Given the description of an element on the screen output the (x, y) to click on. 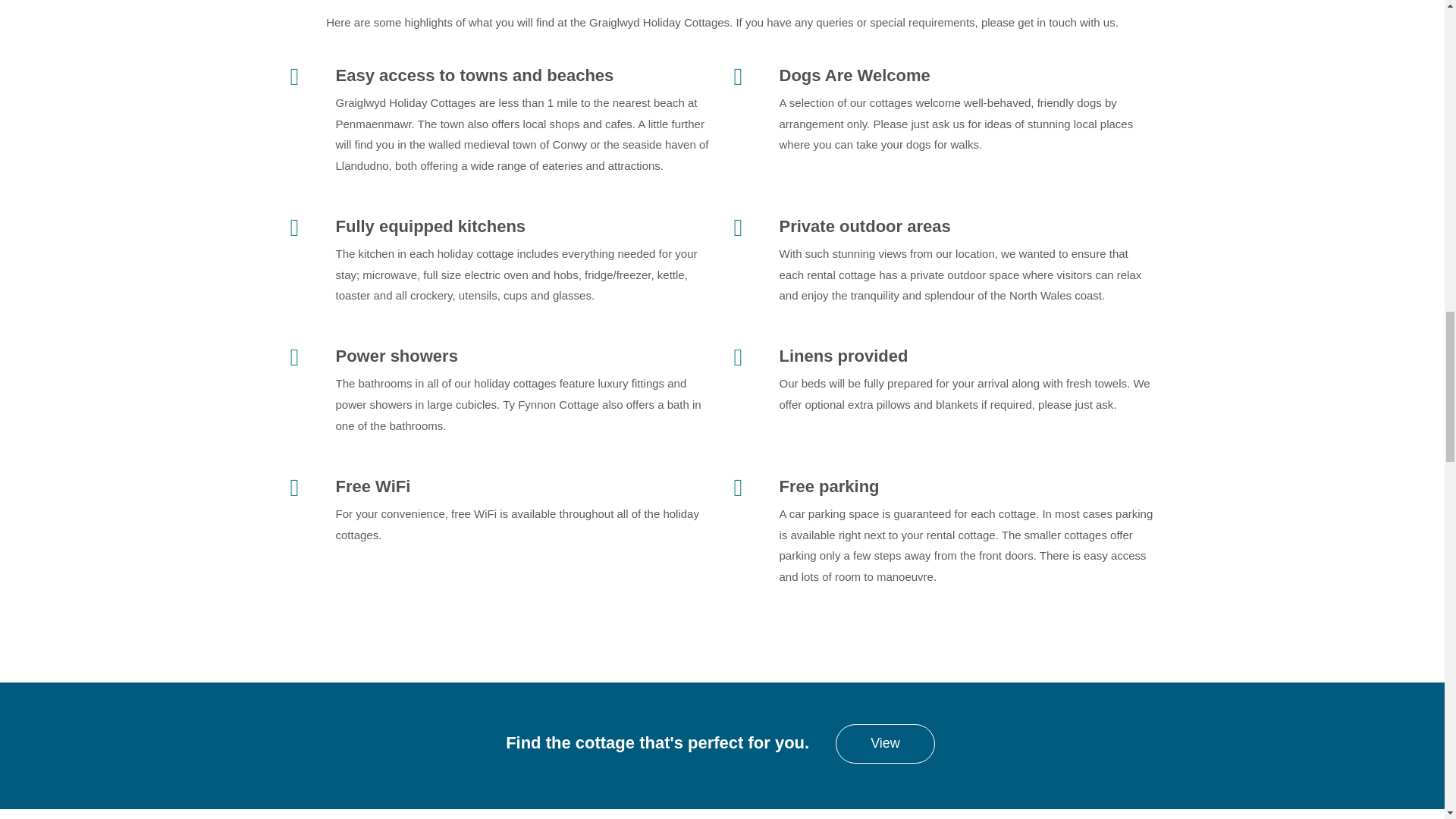
View (884, 743)
